Given the description of an element on the screen output the (x, y) to click on. 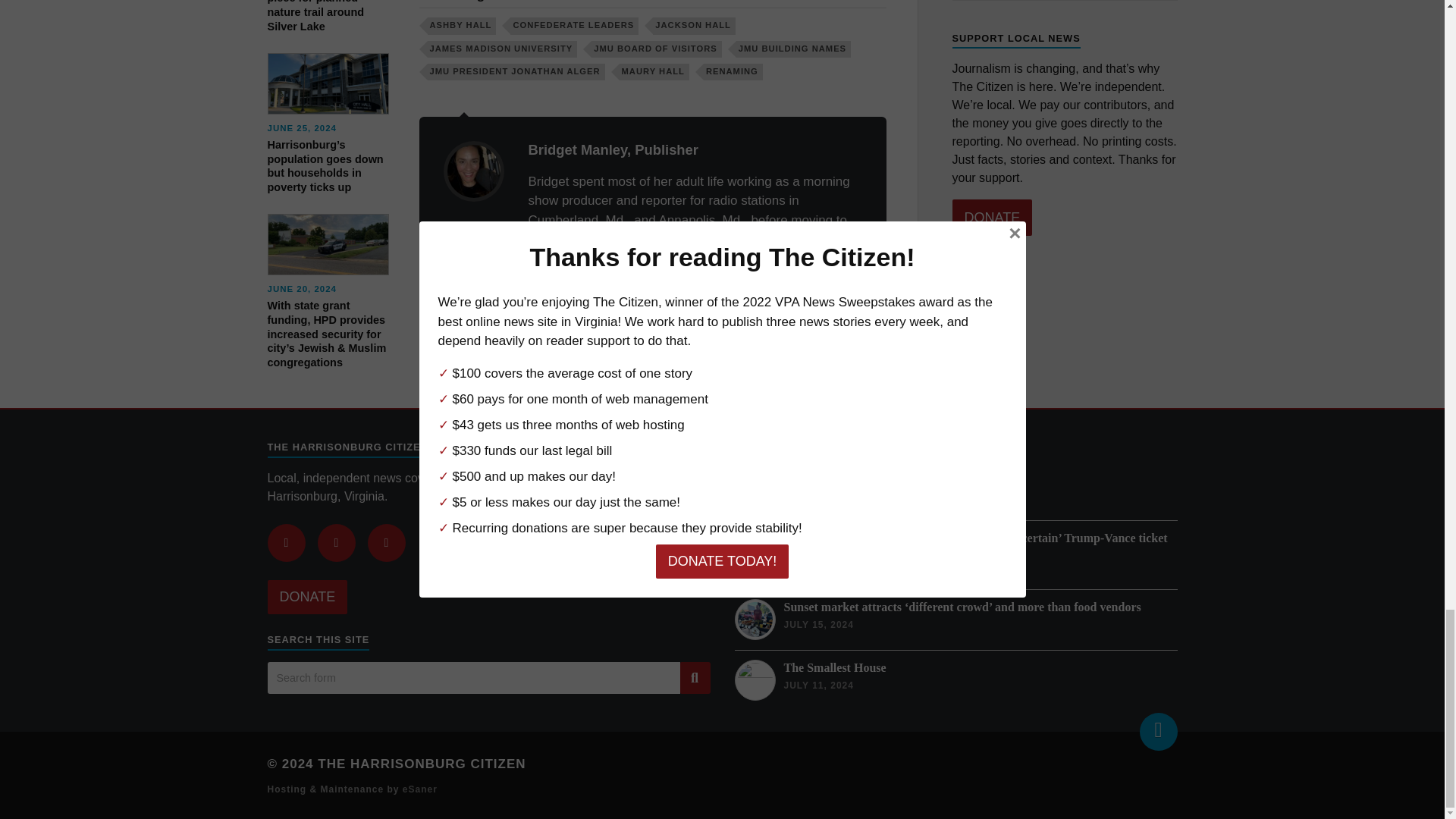
To the top (1157, 731)
CONFEDERATE LEADERS (575, 25)
ASHBY HALL (462, 25)
JACKSON HALL (693, 25)
